Given the description of an element on the screen output the (x, y) to click on. 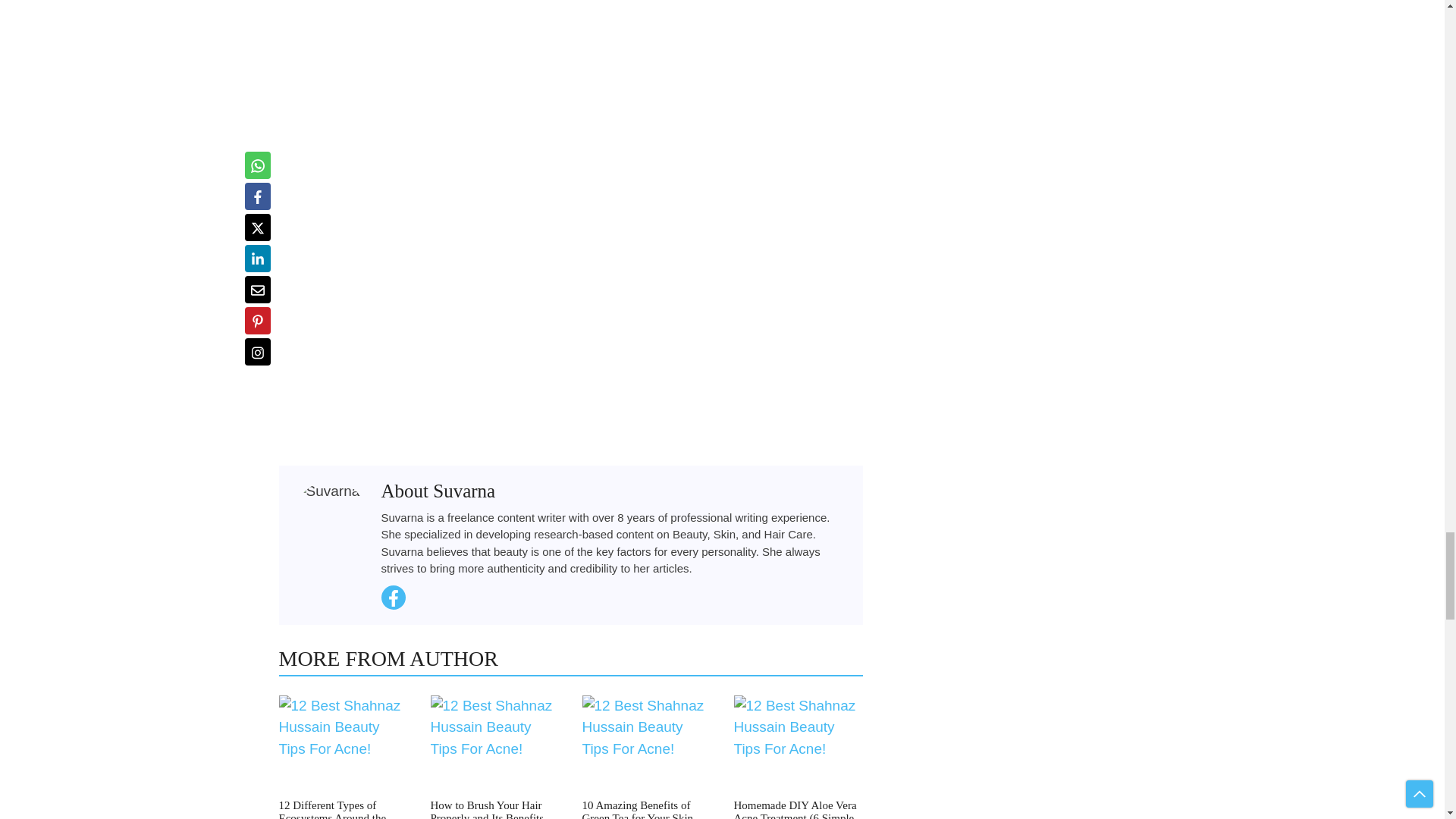
How to Brush Your Hair Properly and Its Benefits (487, 809)
12 Different Types of Ecosystems Around the World (333, 809)
